Given the description of an element on the screen output the (x, y) to click on. 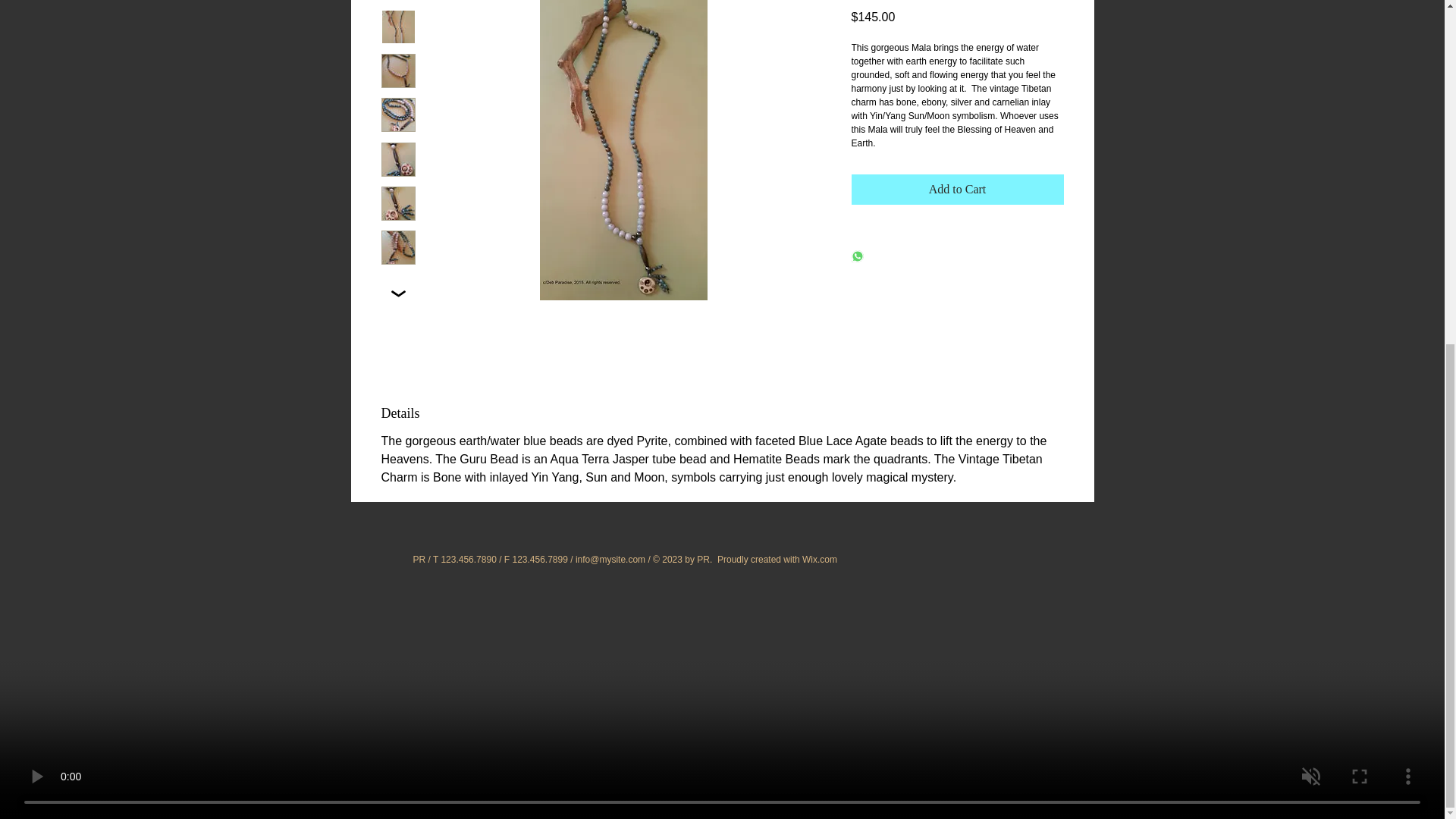
Wix.com (819, 559)
Add to Cart (956, 189)
